Given the description of an element on the screen output the (x, y) to click on. 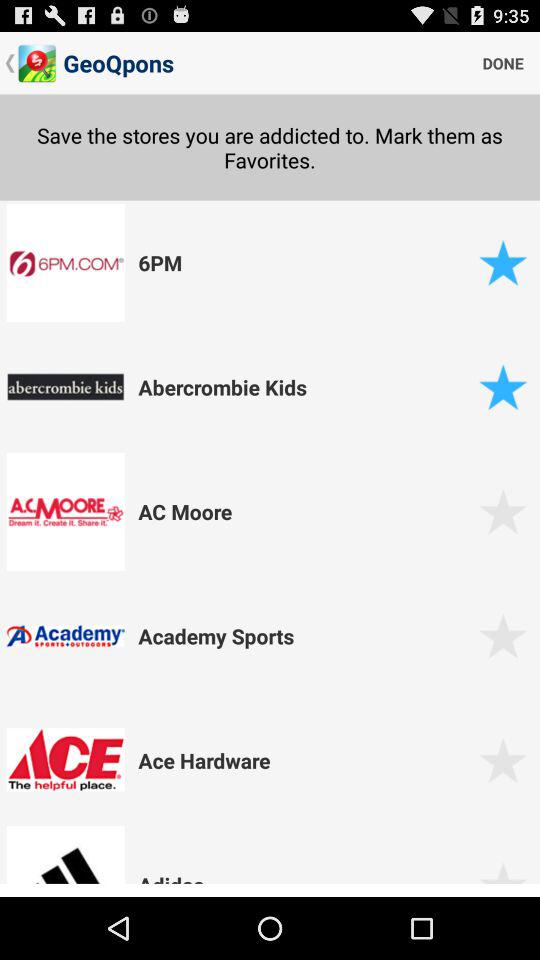
save 6pm store (502, 262)
